Given the description of an element on the screen output the (x, y) to click on. 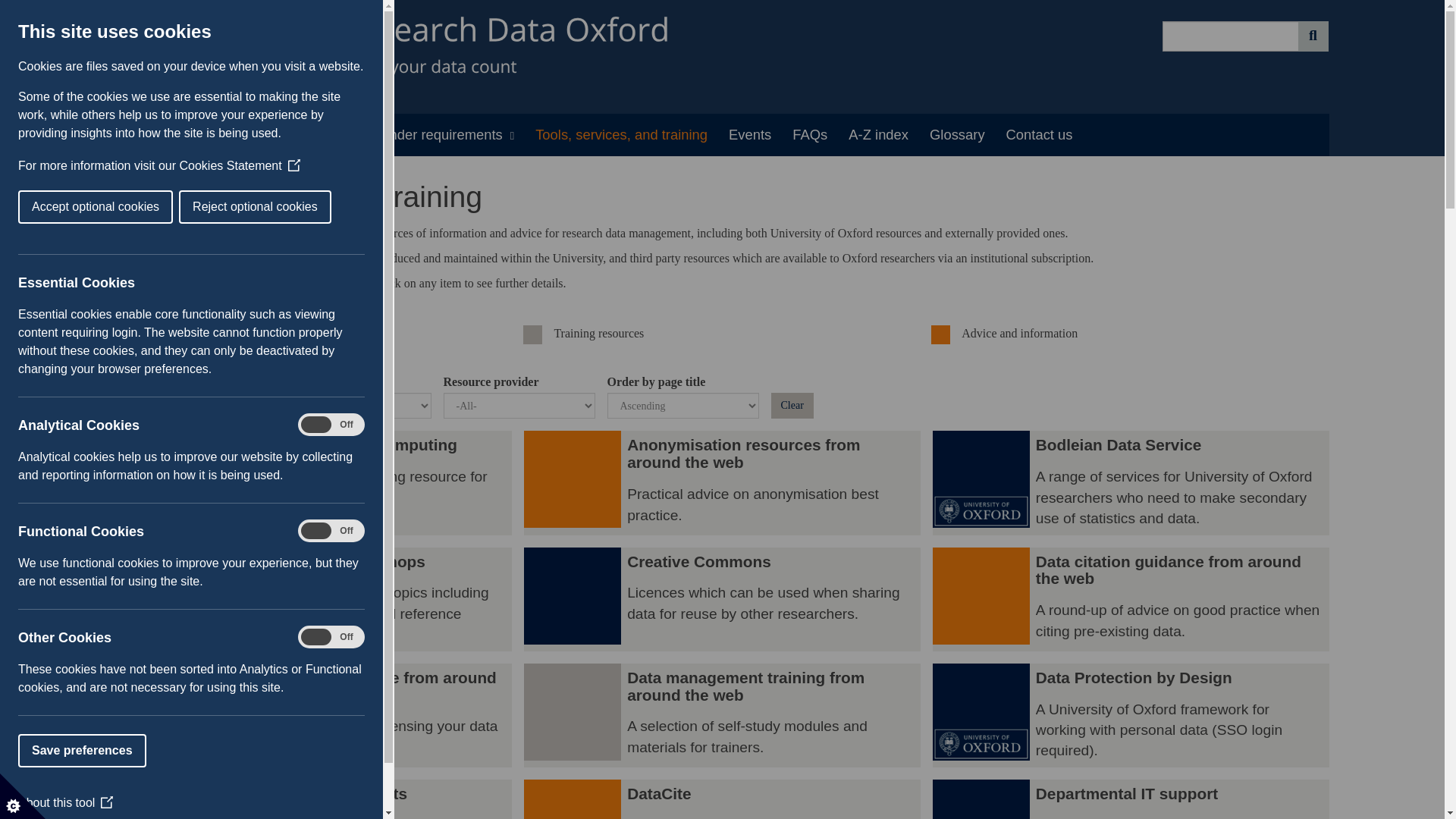
Bodleian Data Service (1131, 482)
Advice and information (940, 334)
A-Z index (878, 134)
Managing research data (206, 134)
Enter the terms you wish to search for (1229, 36)
Advanced Research Computing (313, 482)
Anonymisation resources from around the web (572, 482)
FAQs (809, 134)
Bodleian iSkills Workshops (163, 599)
Tools, services, and training (620, 134)
